Given the description of an element on the screen output the (x, y) to click on. 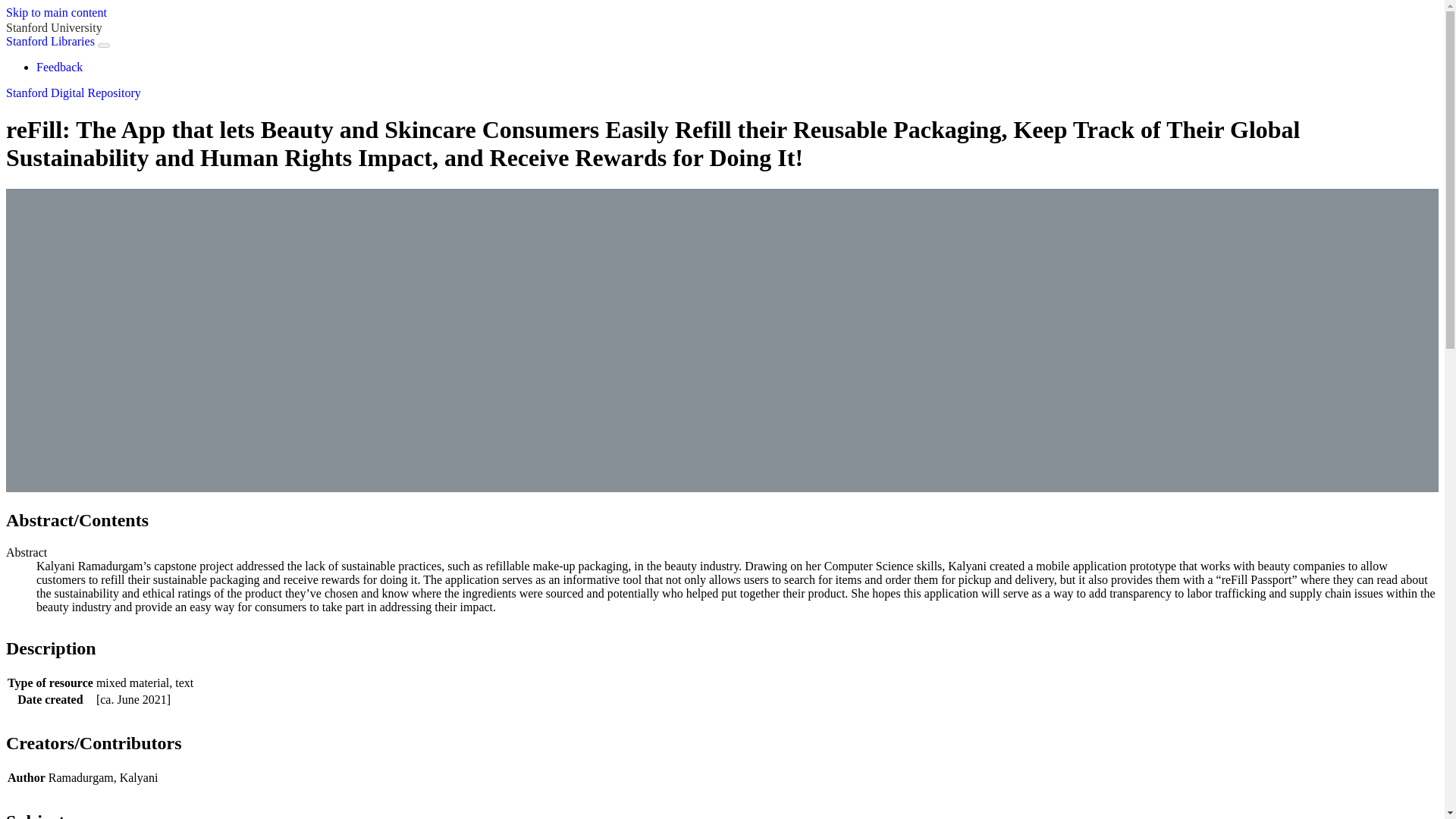
Stanford Libraries (49, 41)
Skip to main content (55, 11)
Feedback (59, 66)
Stanford Digital Repository (73, 92)
